Given the description of an element on the screen output the (x, y) to click on. 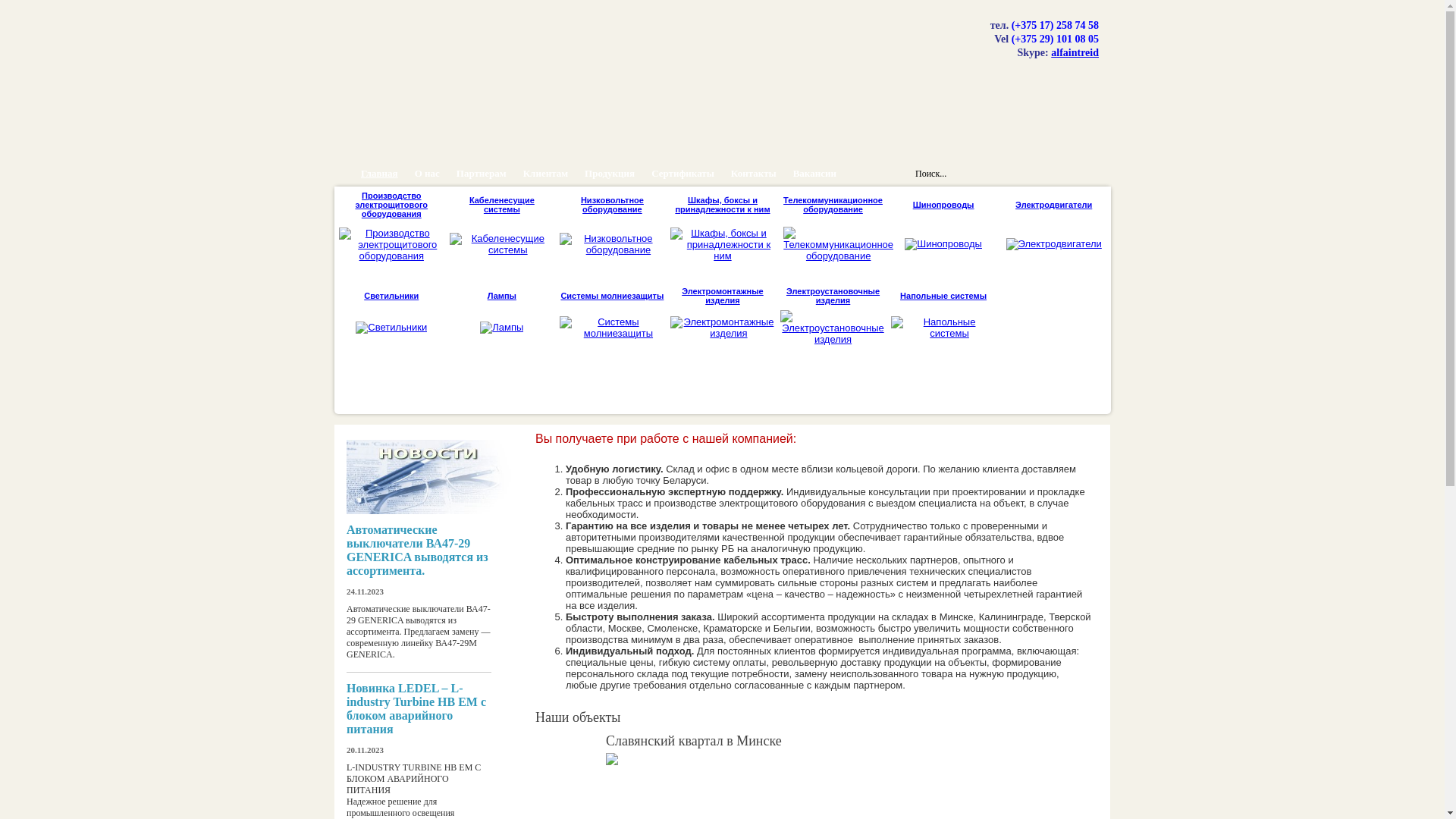
alfaintreid Element type: text (1074, 52)
